Given the description of an element on the screen output the (x, y) to click on. 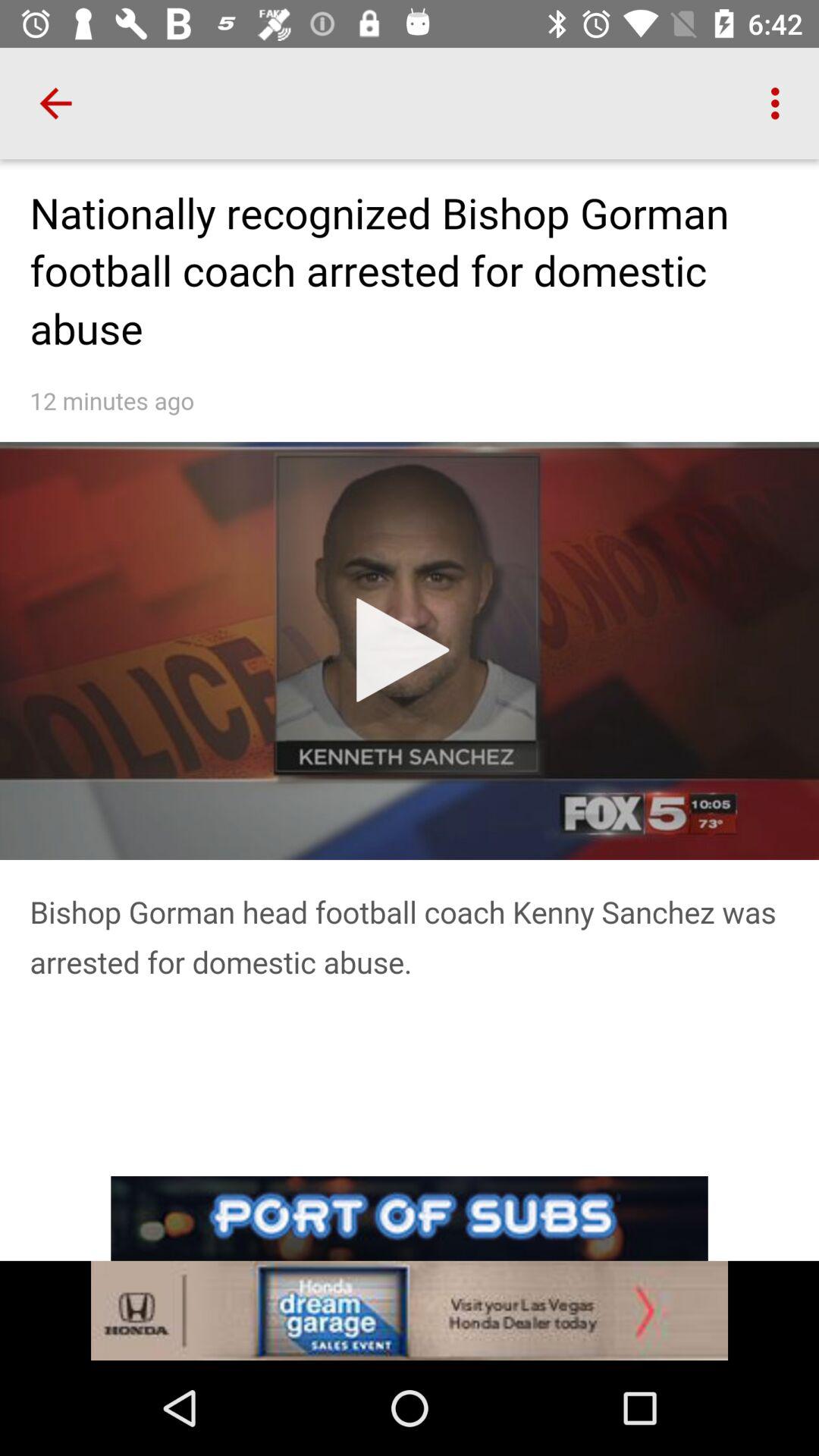
honda dealer advertisement (409, 1310)
